Given the description of an element on the screen output the (x, y) to click on. 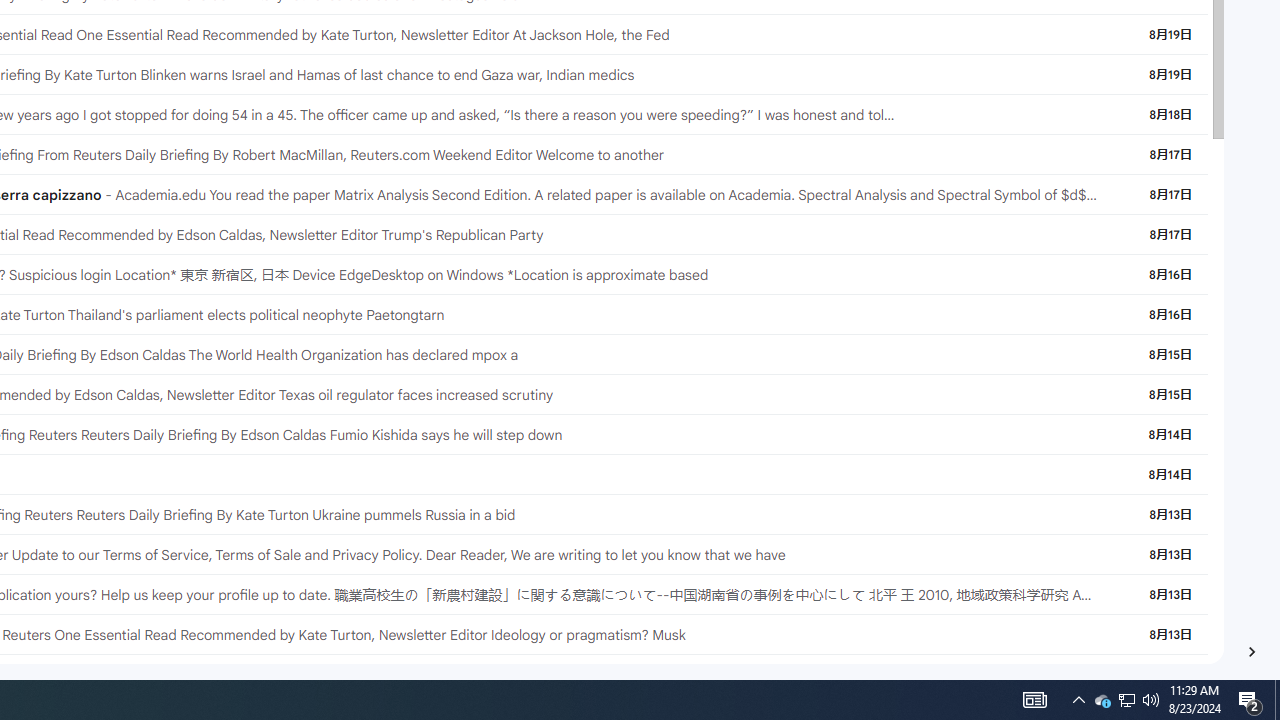
AutomationID: Layer_1 (1251, 651)
